Given the description of an element on the screen output the (x, y) to click on. 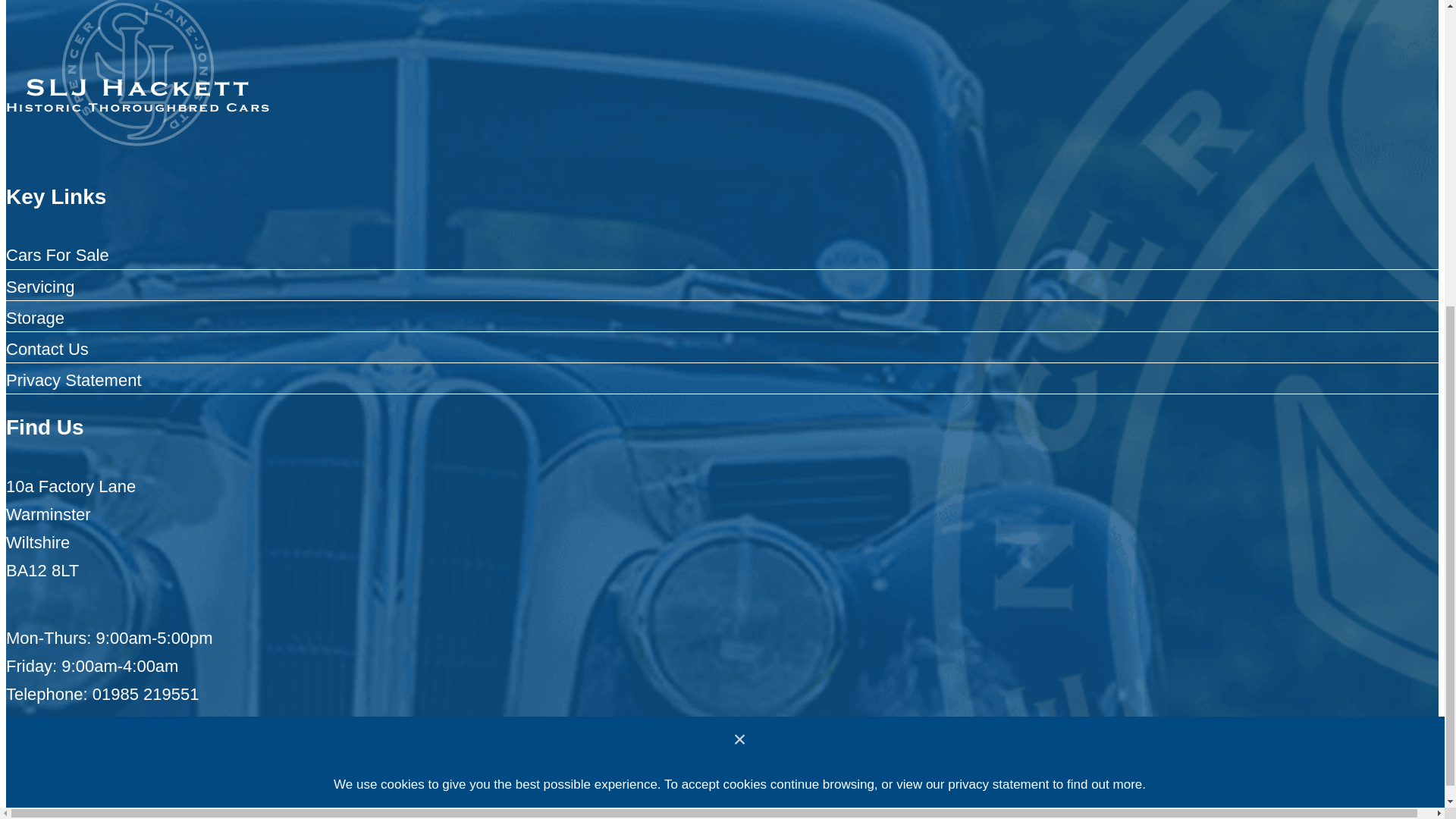
Servicing (39, 286)
Cars For Sale (57, 254)
Contact Us (46, 348)
Storage (34, 317)
privacy statement (997, 287)
Privacy Statement (73, 380)
